Given the description of an element on the screen output the (x, y) to click on. 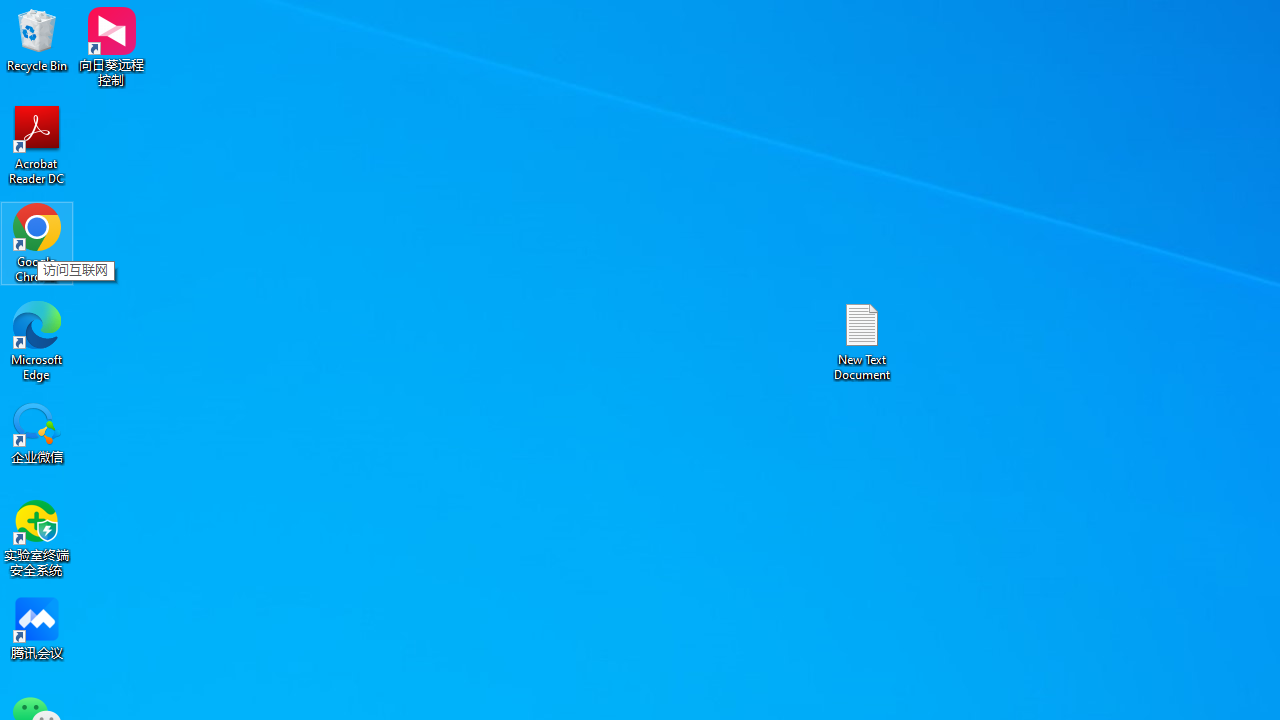
New Text Document (861, 340)
Acrobat Reader DC (37, 144)
Google Chrome (37, 242)
Recycle Bin (37, 39)
Microsoft Edge (37, 340)
